Given the description of an element on the screen output the (x, y) to click on. 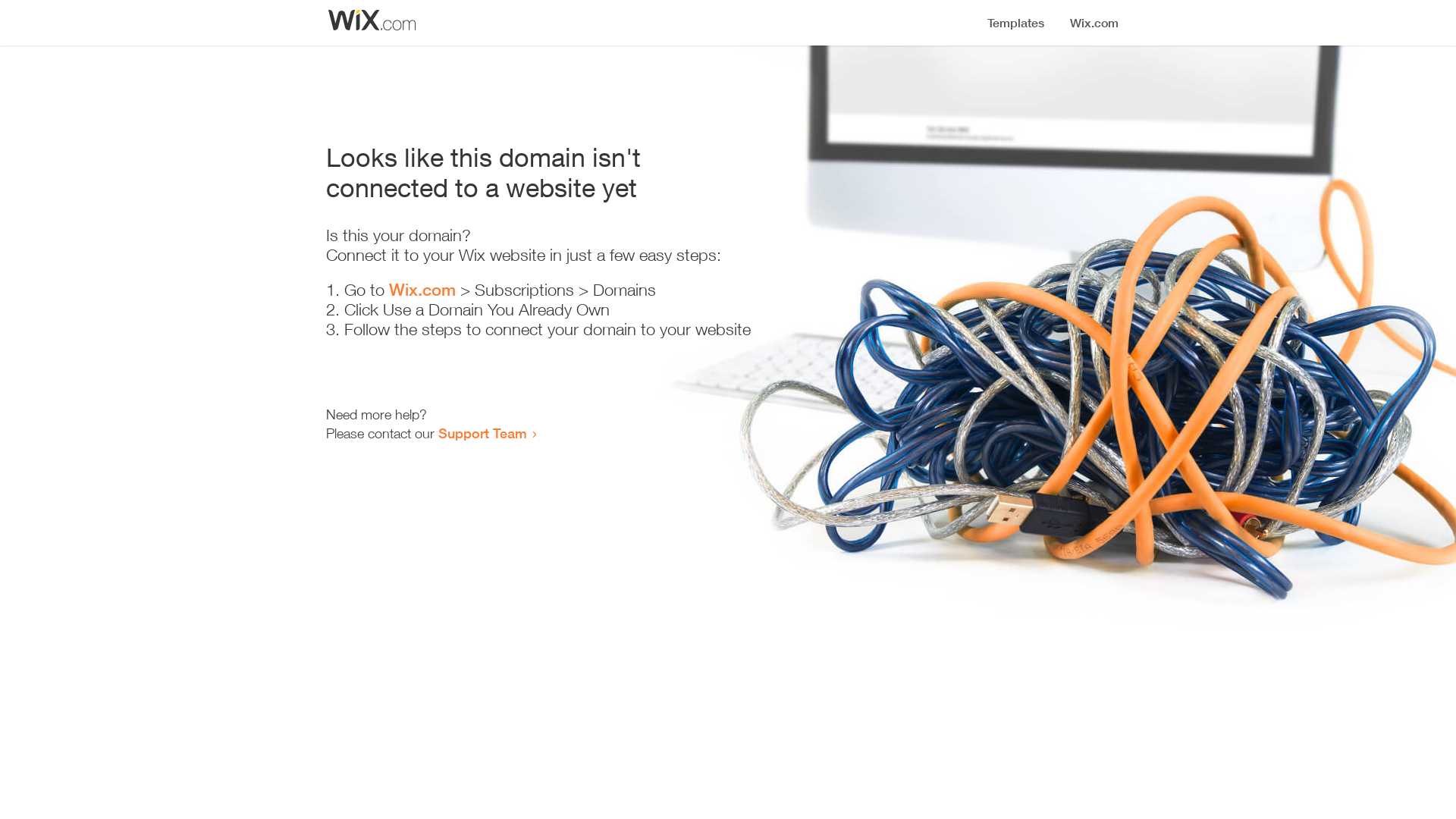
Support Team Element type: text (482, 432)
Wix.com Element type: text (422, 289)
